Given the description of an element on the screen output the (x, y) to click on. 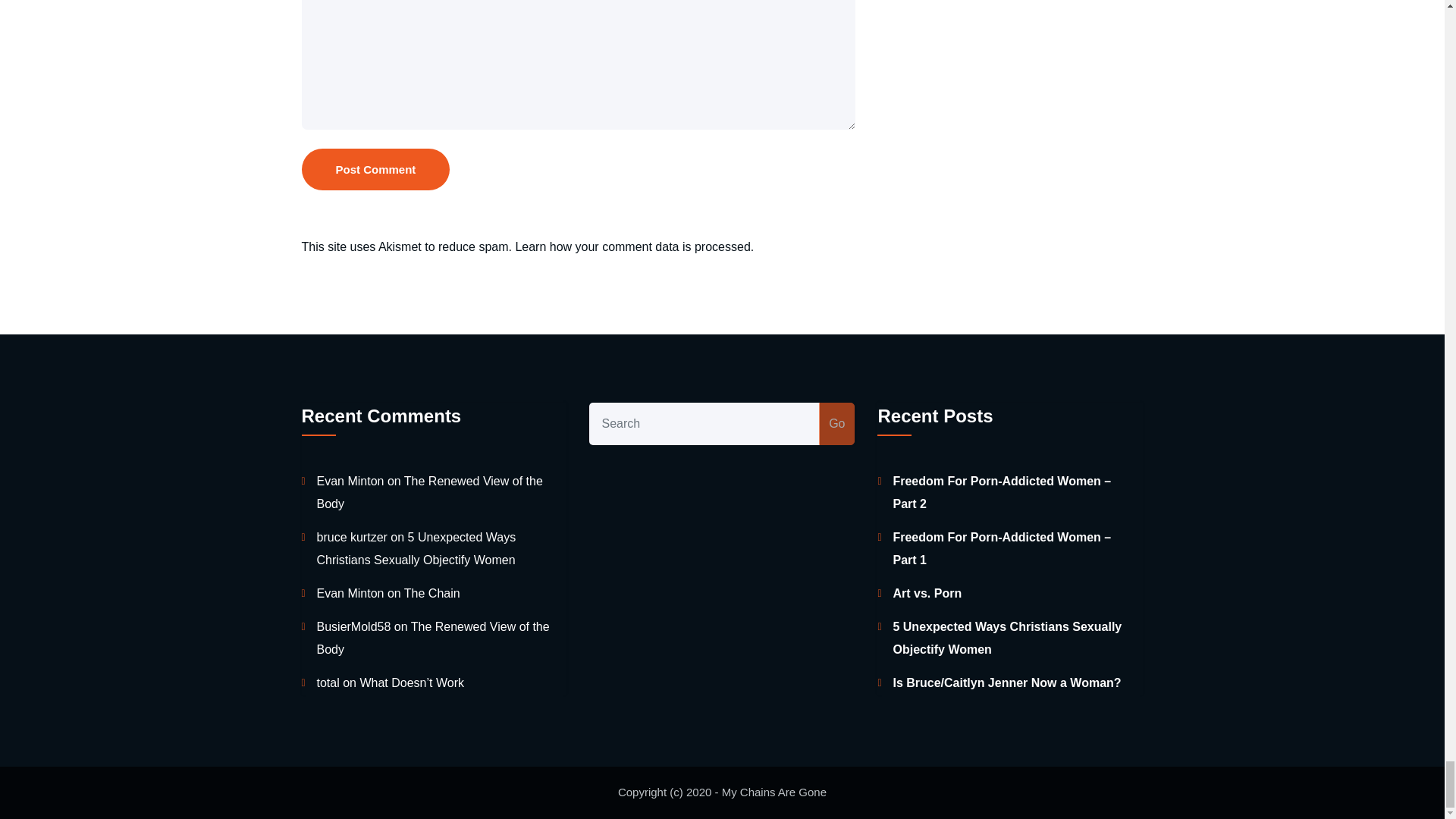
Post Comment (375, 169)
